Given the description of an element on the screen output the (x, y) to click on. 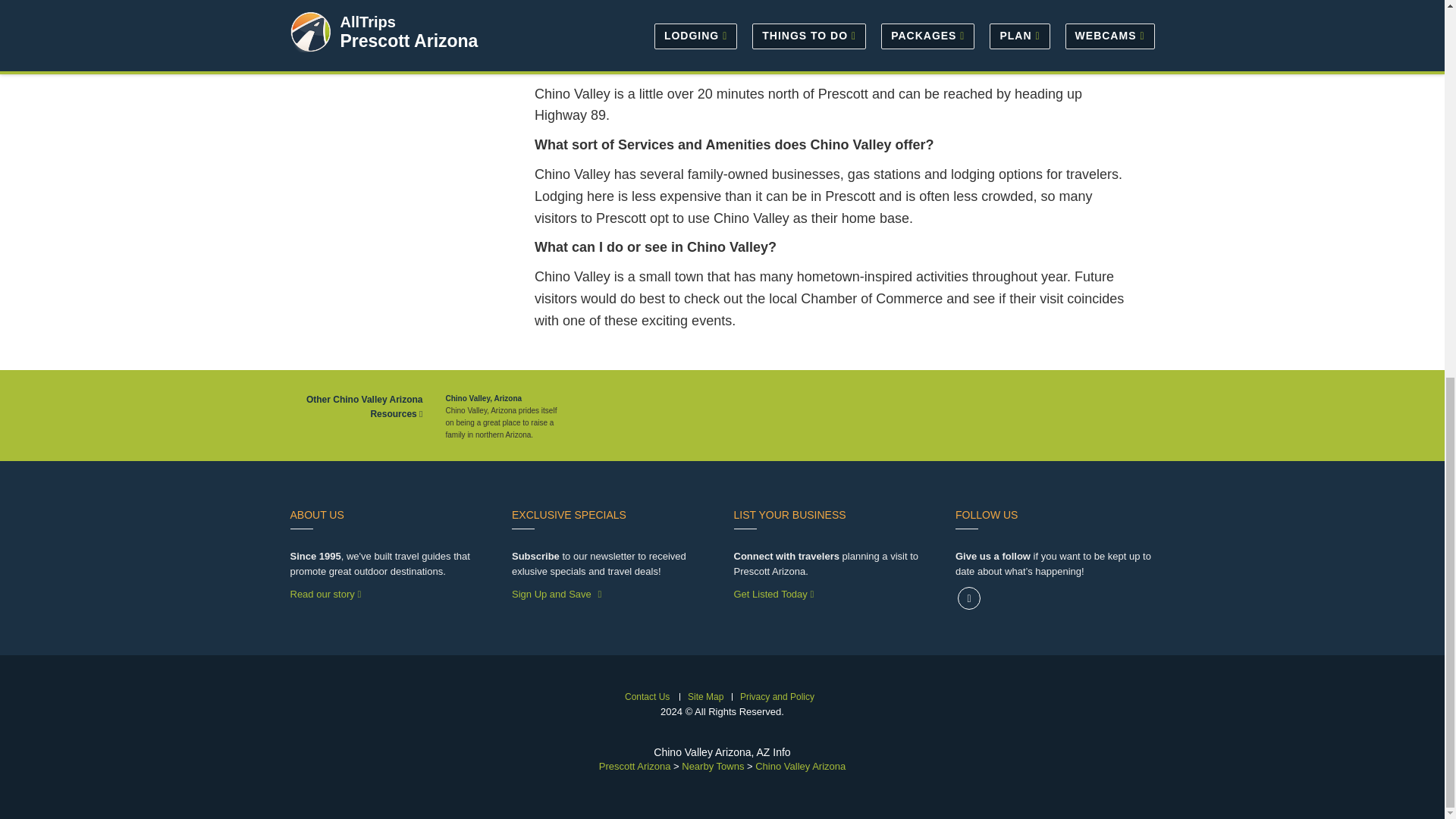
Chino Valley Arizona (800, 766)
Nearby Towns (712, 766)
Prescott Arizona (634, 766)
